Given the description of an element on the screen output the (x, y) to click on. 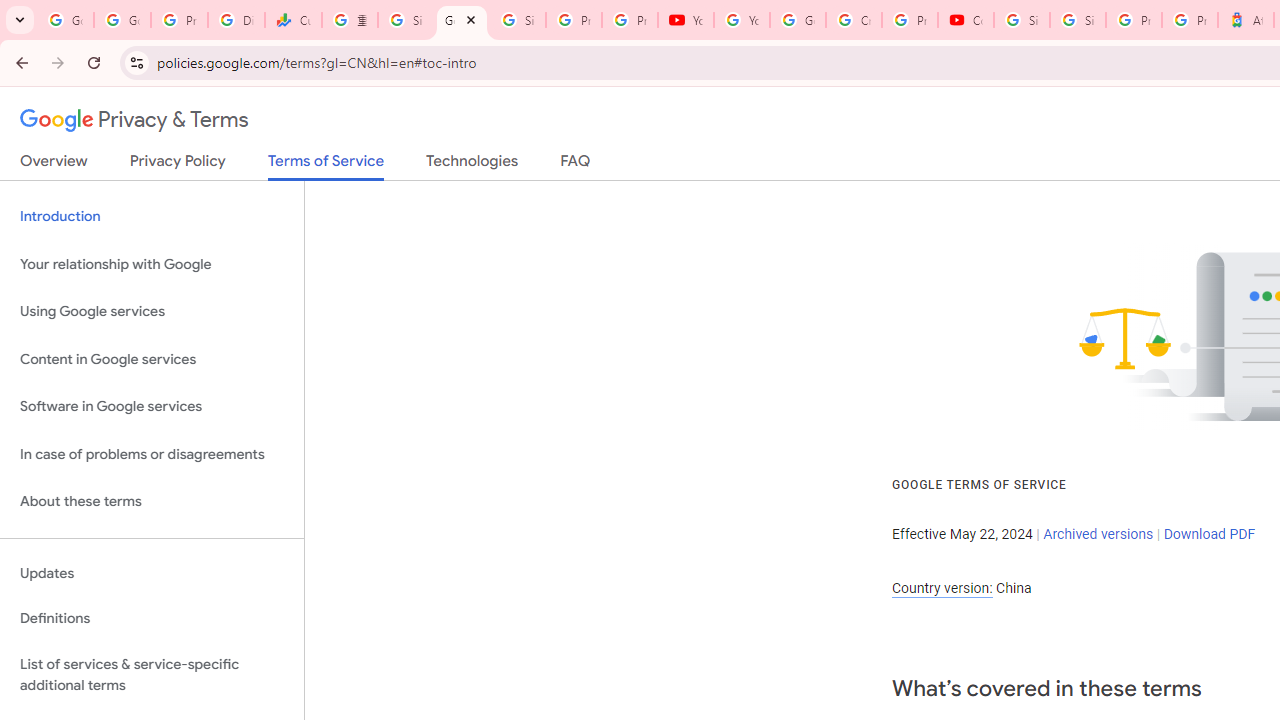
Your relationship with Google (152, 263)
List of services & service-specific additional terms (152, 674)
Privacy Checkup (629, 20)
Using Google services (152, 312)
Content in Google services (152, 358)
Currencies - Google Finance (293, 20)
Country version: (942, 588)
YouTube (742, 20)
Create your Google Account (853, 20)
